Given the description of an element on the screen output the (x, y) to click on. 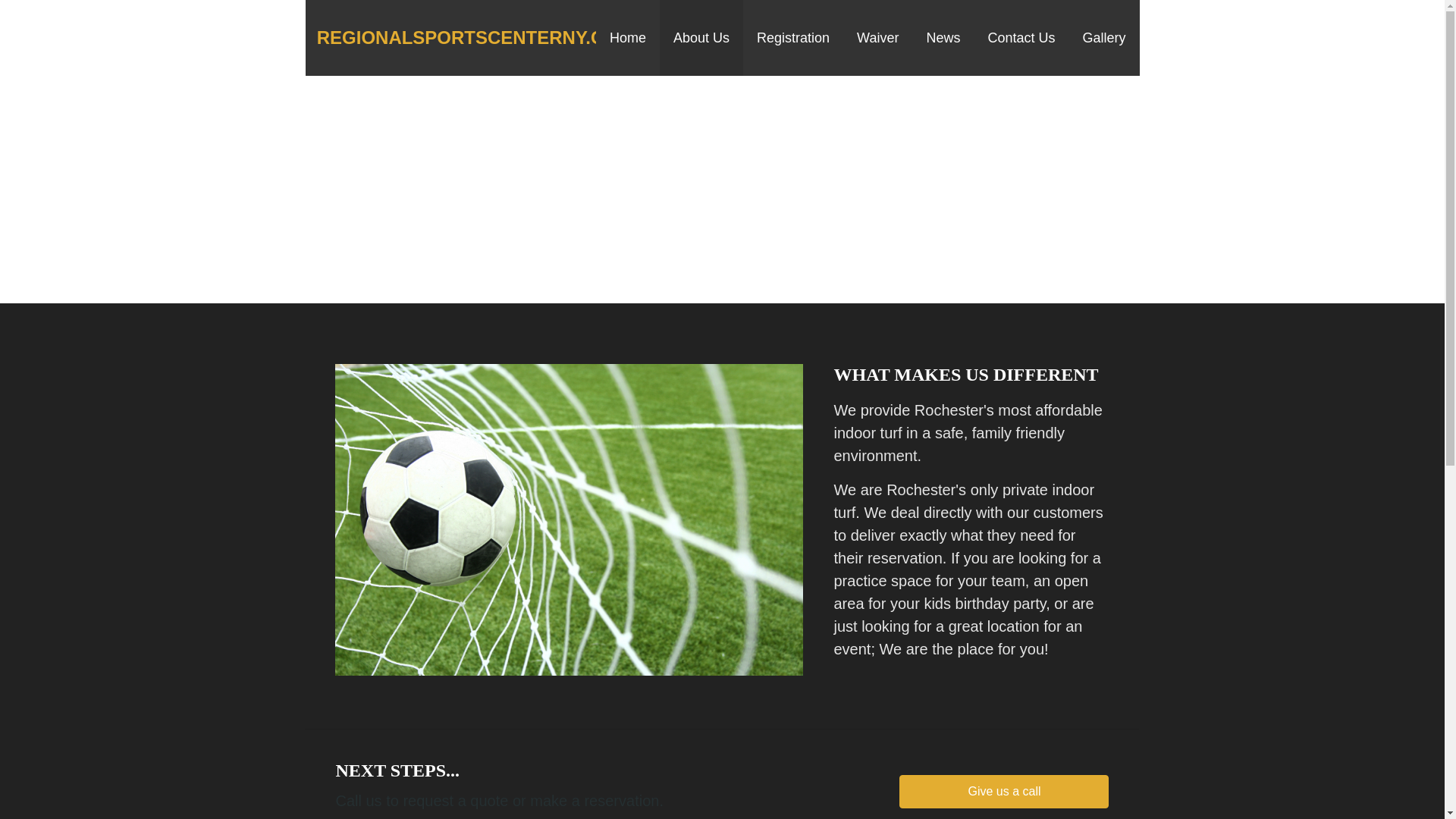
Contact Us (1021, 38)
About Us (700, 38)
Gallery (1103, 38)
Registration (792, 38)
Waiver (877, 38)
Give us a call (1003, 791)
REGIONALSPORTSCENTERNY.COM (475, 37)
